Given the description of an element on the screen output the (x, y) to click on. 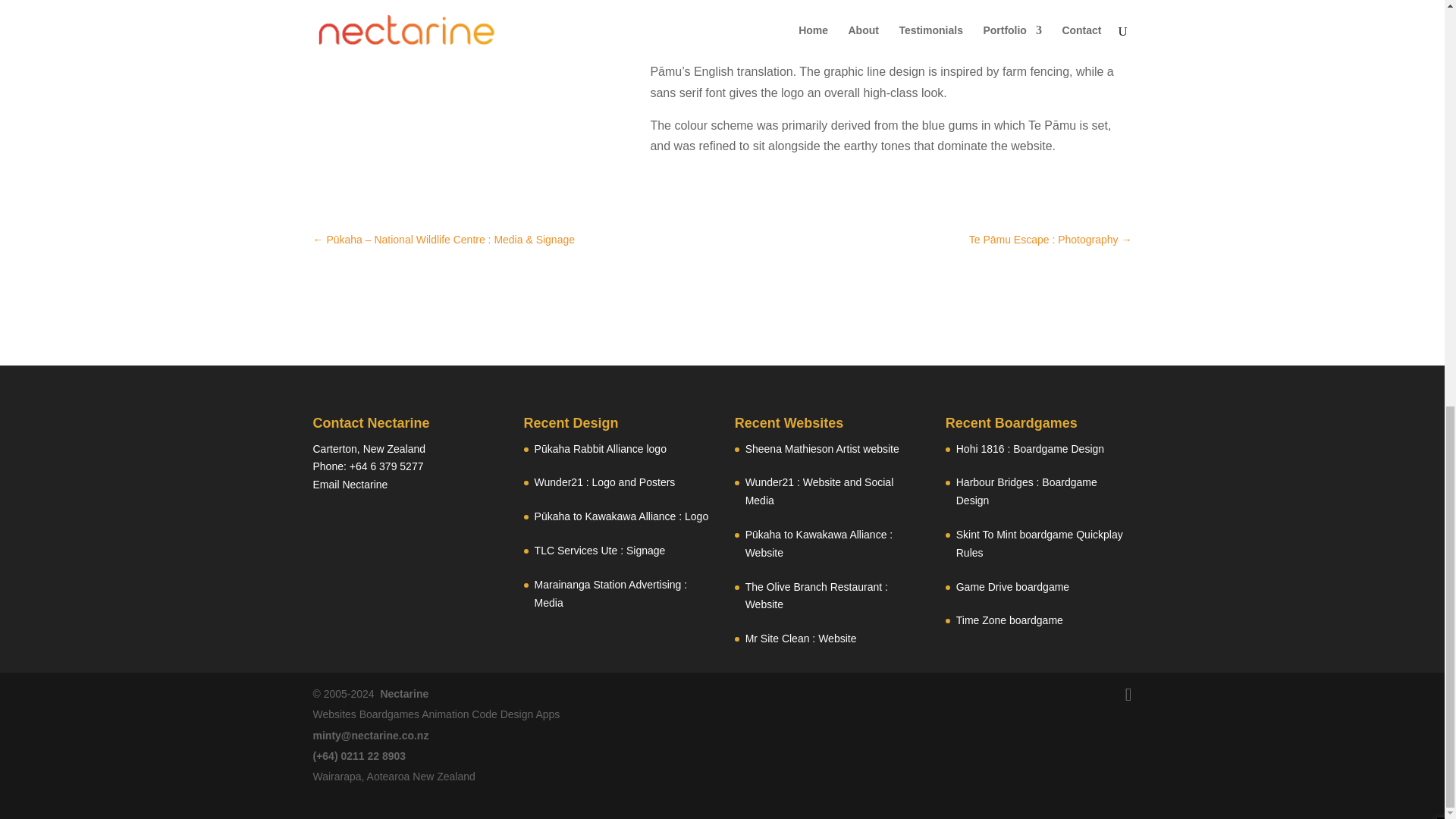
Wunder21 : Website and Social Media (819, 490)
Email Nectarine (350, 484)
TLC Services Ute : Signage (599, 550)
Contact Nectarine (350, 484)
Wunder21 : Logo and Posters (604, 481)
Carterton, New Zealand (369, 449)
Marainanga Station Advertising : Media (610, 593)
Sheena Mathieson Artist website (822, 449)
